Given the description of an element on the screen output the (x, y) to click on. 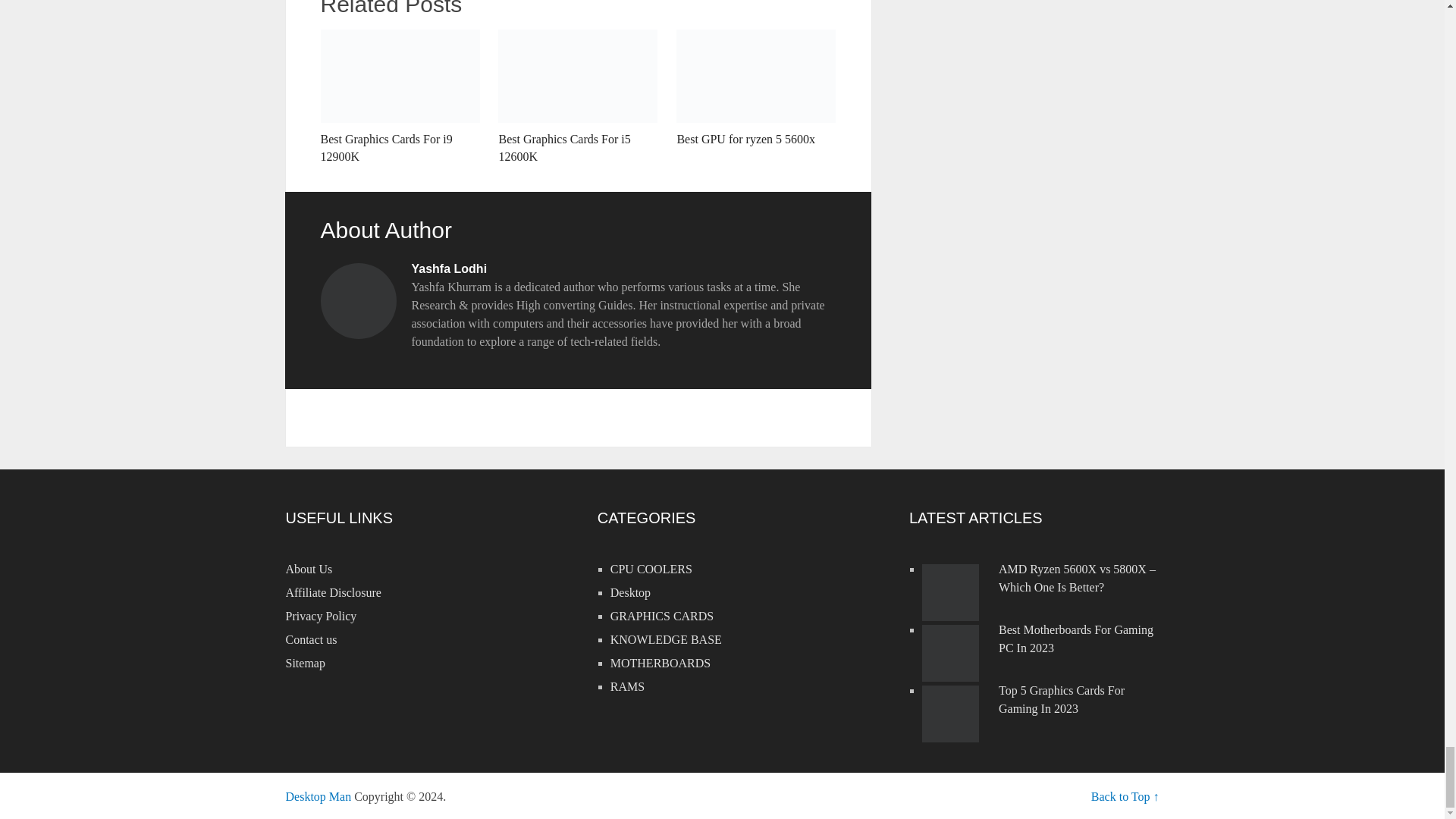
PC Hardware Reviews for Gamers (317, 796)
Best GPU for ryzen 5 5600x (756, 88)
Best Graphics Cards For i5 12600K (577, 97)
Best Graphics Cards For i9 12900K (399, 97)
